Given the description of an element on the screen output the (x, y) to click on. 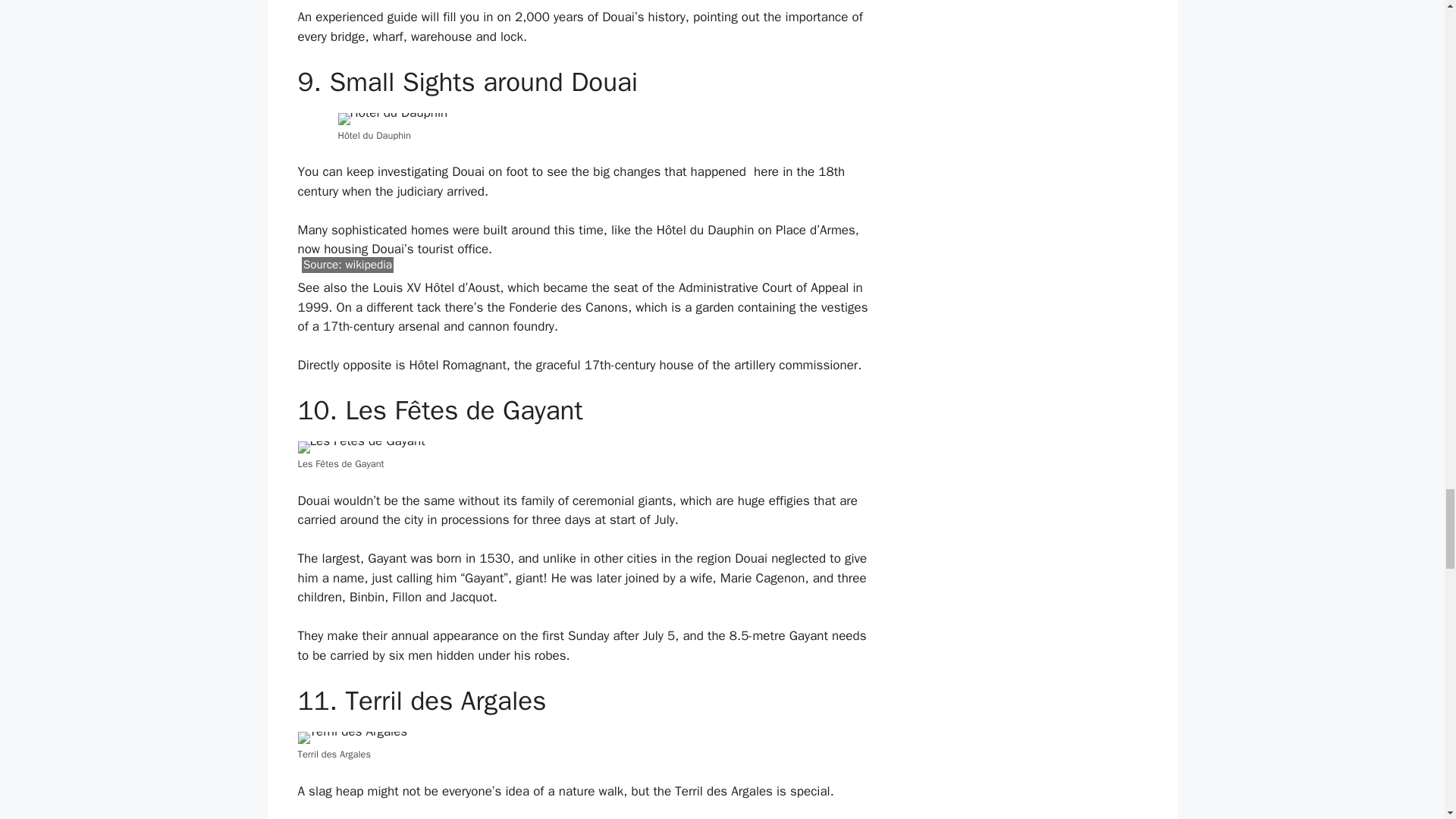
wikipedia (368, 263)
